Given the description of an element on the screen output the (x, y) to click on. 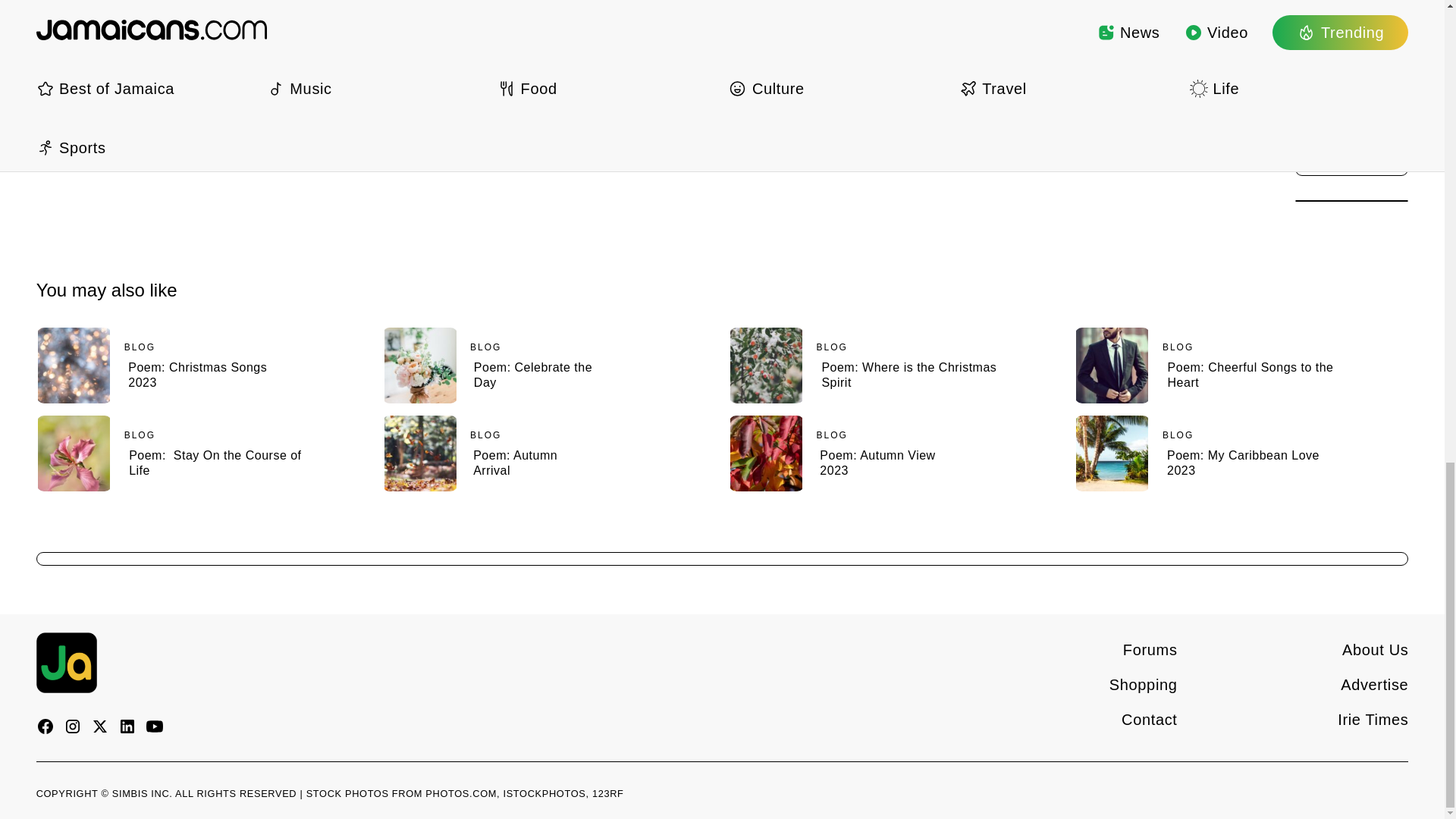
Click here to read about class action lawsuits. (170, 1)
Click here for more on Scond Amendment rights. (178, 26)
